Given the description of an element on the screen output the (x, y) to click on. 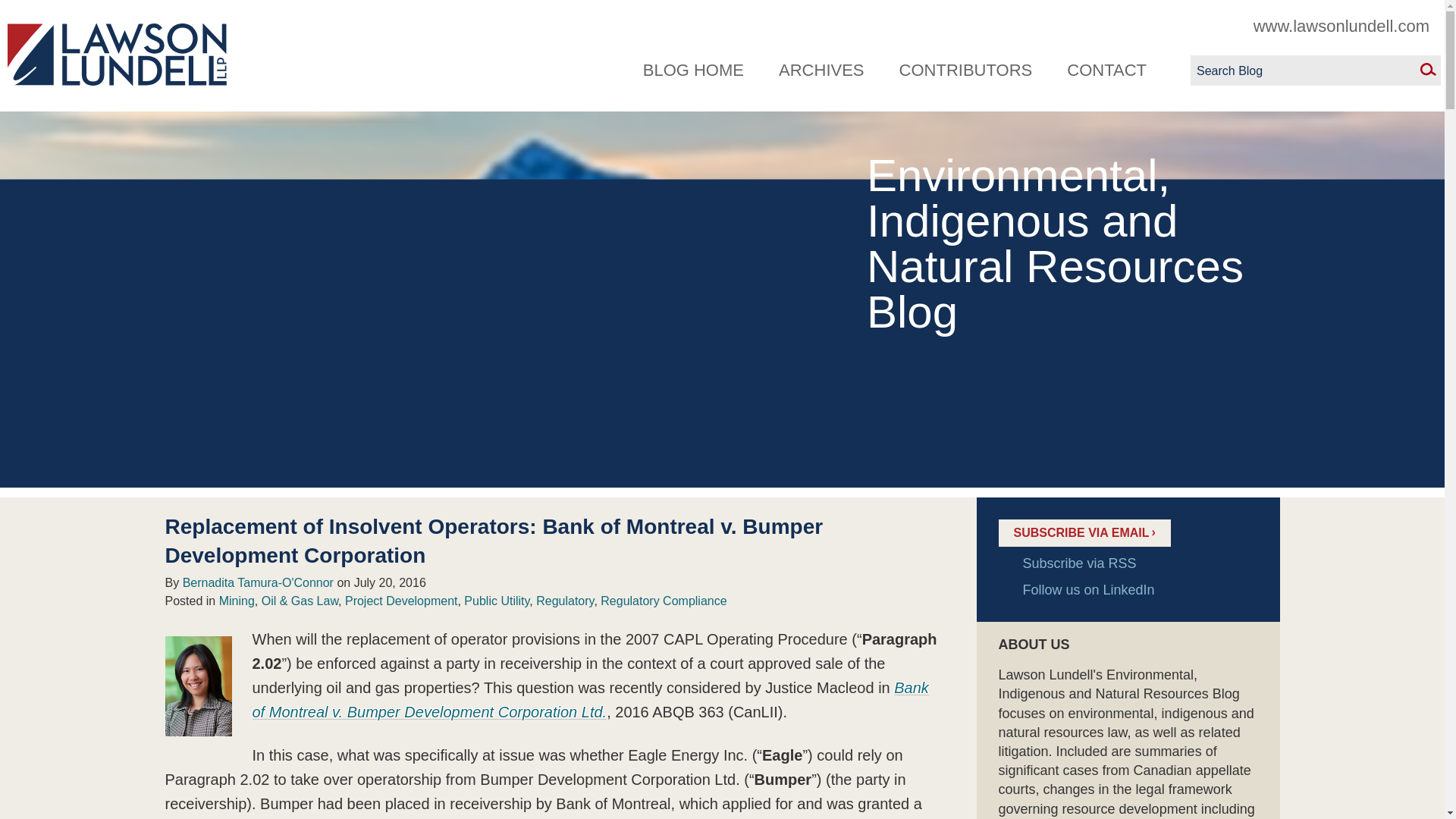
Follow us on LinkedIn (1075, 589)
www.lawsonlundell.com (1341, 31)
CONTACT (1106, 75)
Public Utility (496, 600)
Regulatory (564, 600)
Subscribe via RSS (1066, 563)
Main Menu (264, 12)
Project Development (401, 600)
ARCHIVES (821, 75)
Bernadita Tamura-O'Connor (258, 582)
SUBSCRIBE VIA EMAIL (1083, 533)
LinkedIn (1075, 589)
Bank of Montreal v. Bumper Development Corporation Ltd. (589, 699)
Mining (236, 600)
Regulatory Compliance (662, 600)
